Given the description of an element on the screen output the (x, y) to click on. 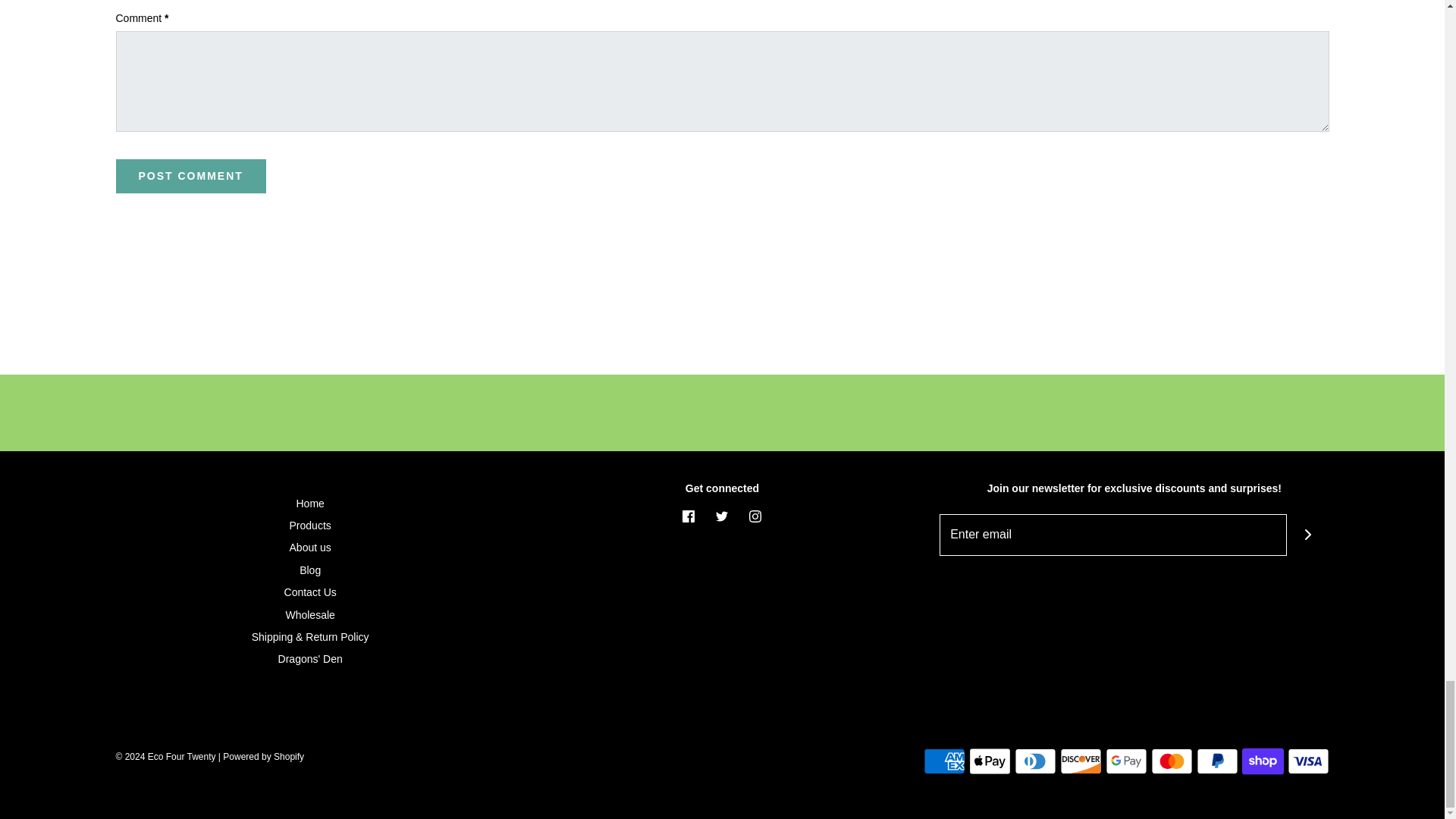
Apple Pay (989, 761)
Google Pay (1126, 761)
American Express (944, 761)
Diners Club (1035, 761)
Mastercard (1171, 761)
Discover (1080, 761)
Post comment (189, 175)
PayPal (1217, 761)
